Given the description of an element on the screen output the (x, y) to click on. 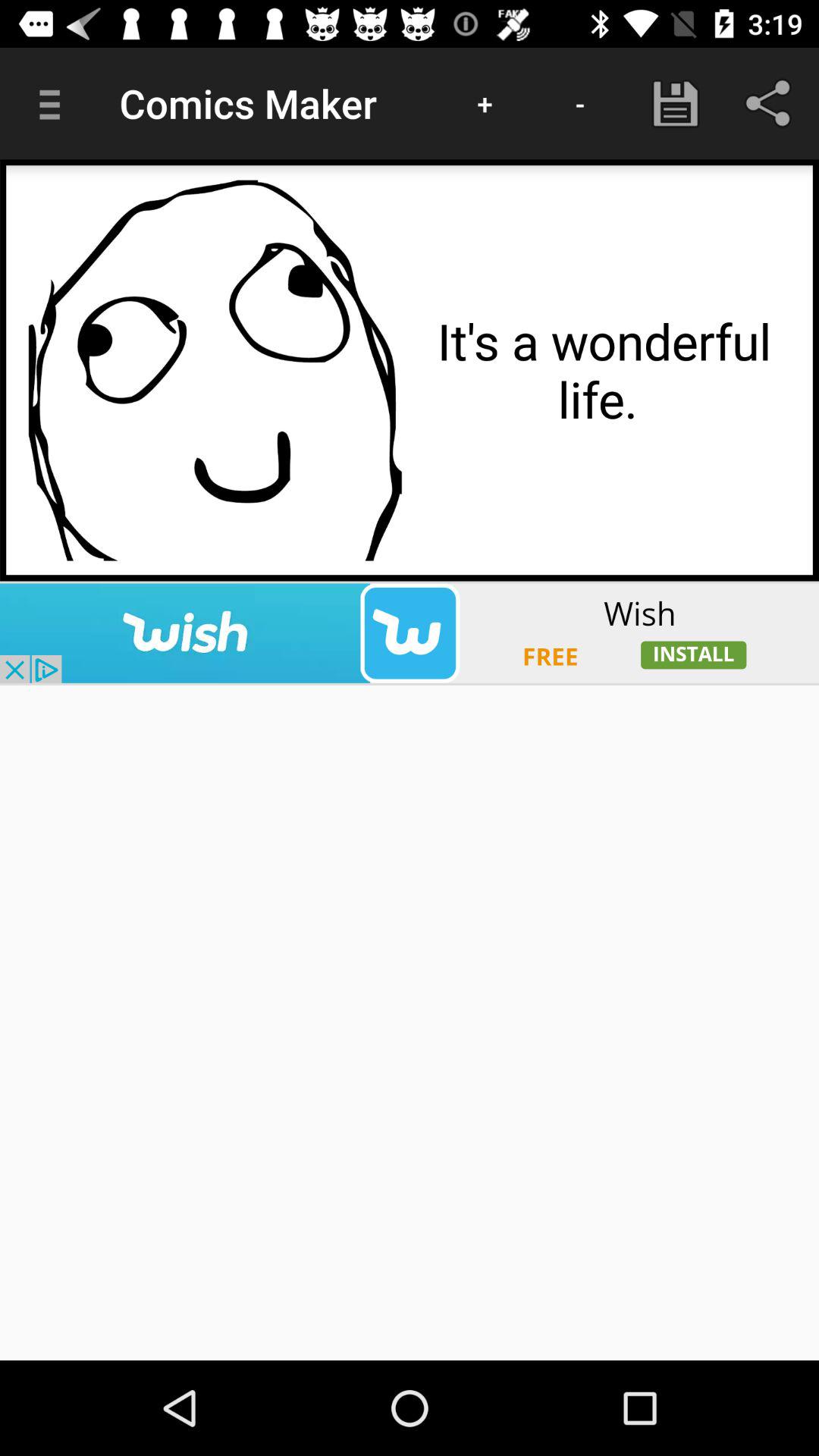
visit sponsored advertisement (409, 633)
